Given the description of an element on the screen output the (x, y) to click on. 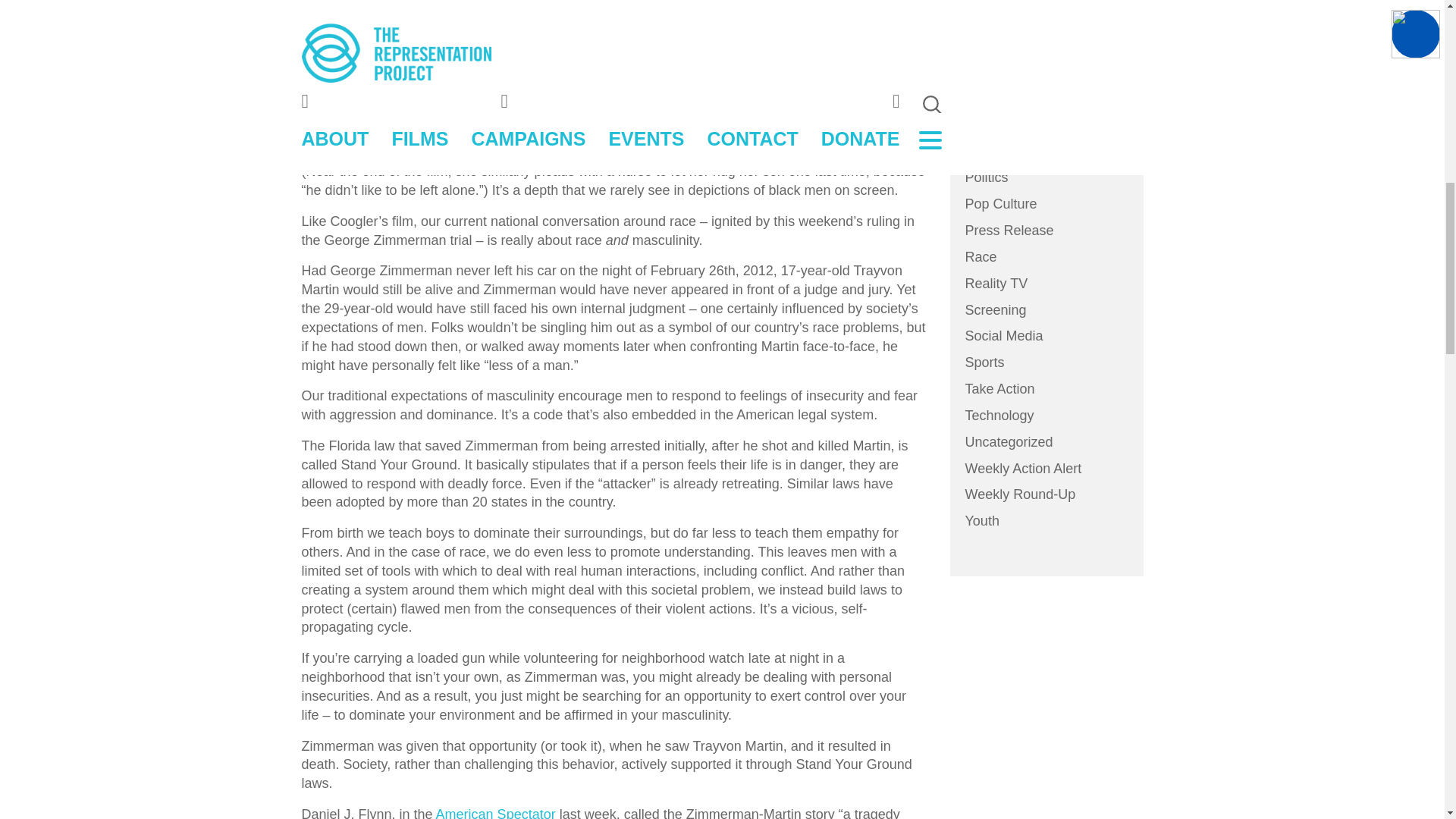
American Spectator (495, 812)
